Given the description of an element on the screen output the (x, y) to click on. 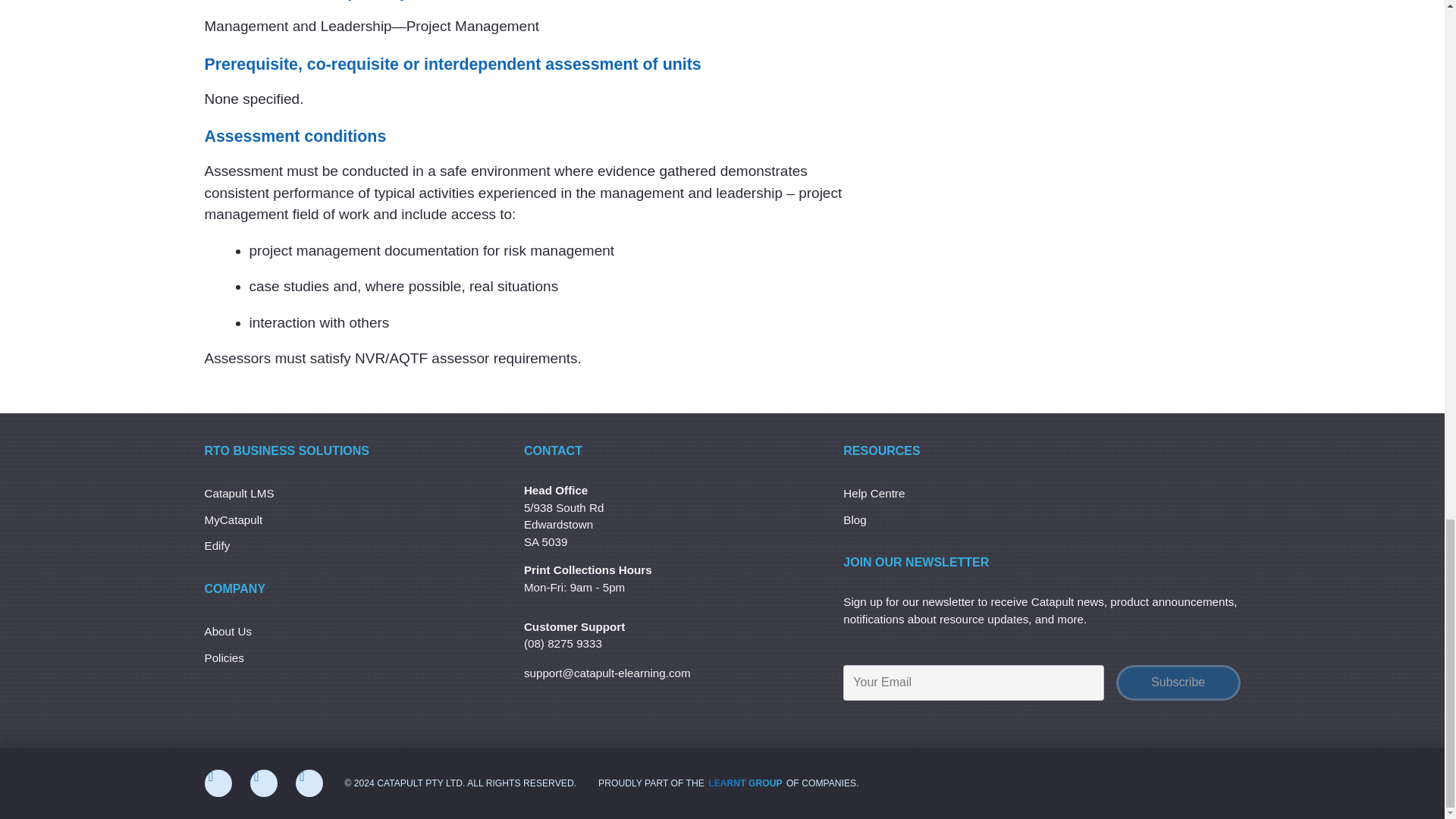
Subscribe (1178, 683)
